Given the description of an element on the screen output the (x, y) to click on. 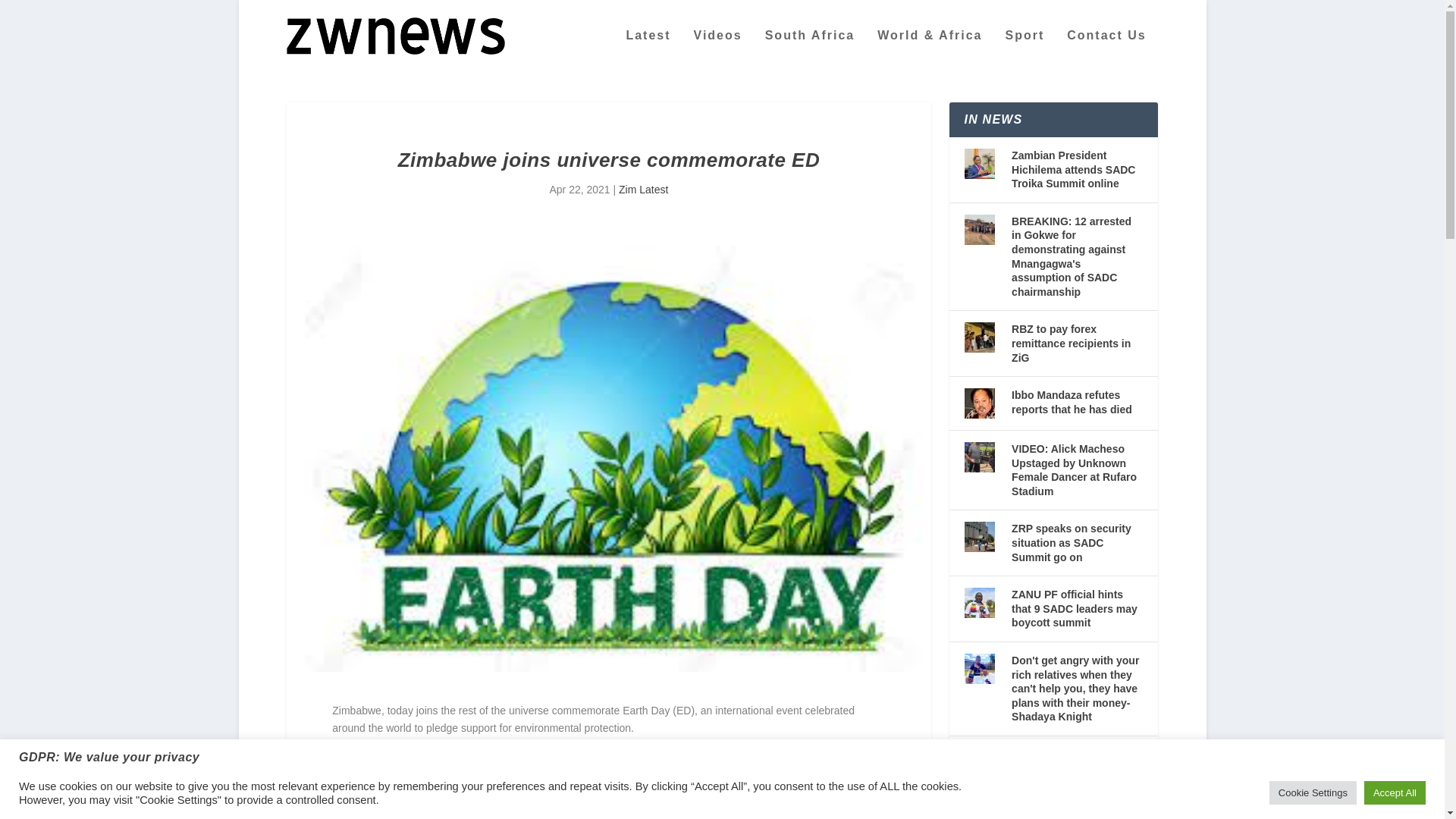
Zim Latest (643, 189)
South Africa (810, 50)
Latest (647, 50)
Videos (718, 50)
